Given the description of an element on the screen output the (x, y) to click on. 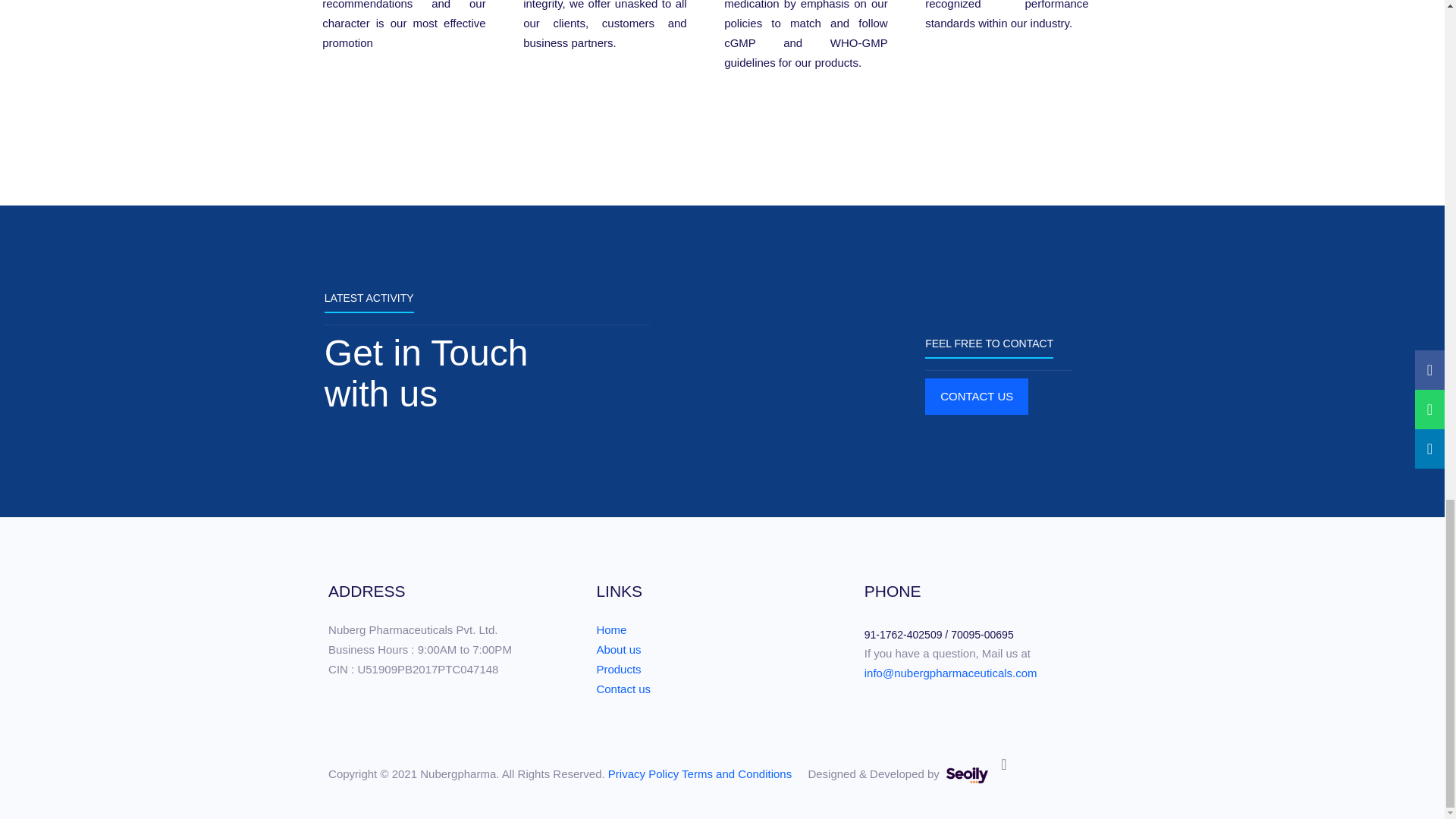
Privacy Policy (643, 773)
CONTACT US (975, 396)
Products (617, 668)
Home (610, 629)
Contact us (622, 688)
About us (617, 649)
Terms and Conditions (736, 773)
